Given the description of an element on the screen output the (x, y) to click on. 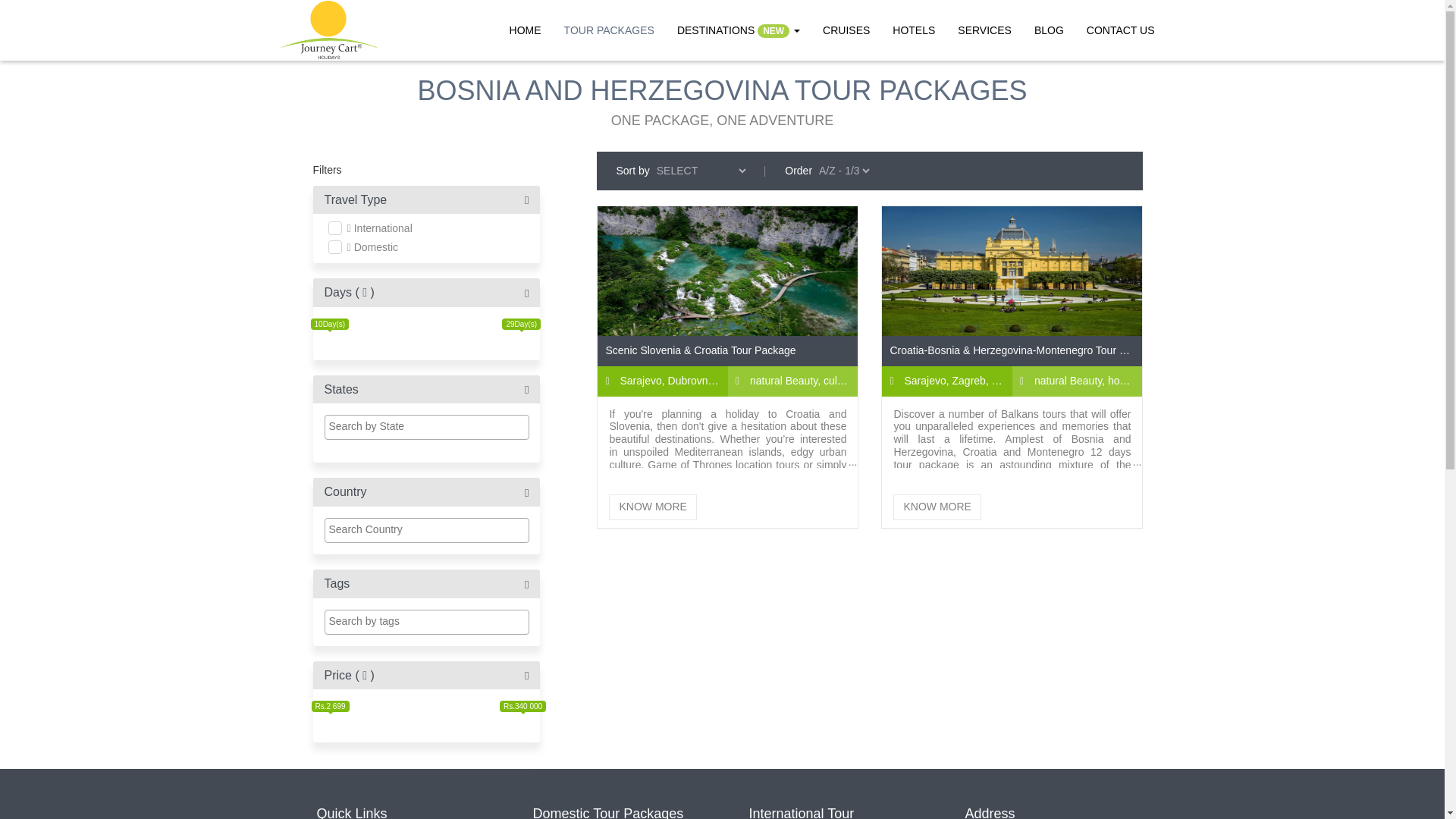
packages (609, 30)
KNOW MORE (936, 507)
BLOG (1049, 30)
CONTACT US (1120, 30)
blog (1049, 30)
HOME (525, 30)
Cruises (845, 30)
TOUR PACKAGES (609, 30)
home (525, 30)
SERVICES (984, 30)
CRUISES (845, 30)
KNOW MORE (651, 507)
Hotels (913, 30)
contact us (1120, 30)
HOTELS (913, 30)
